Given the description of an element on the screen output the (x, y) to click on. 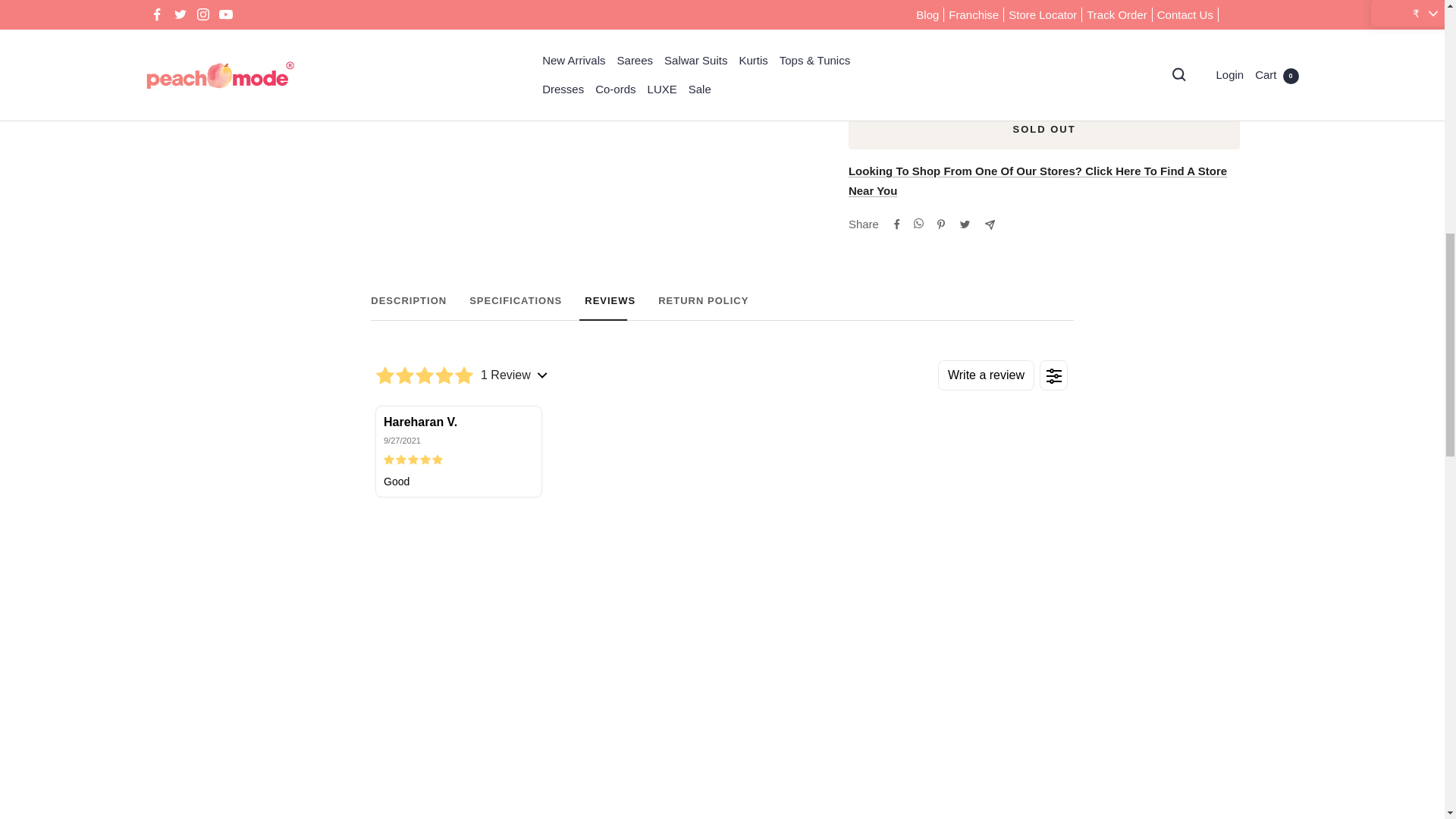
Peachmode Stores (722, 307)
XXL (1037, 180)
XL (722, 307)
